Given the description of an element on the screen output the (x, y) to click on. 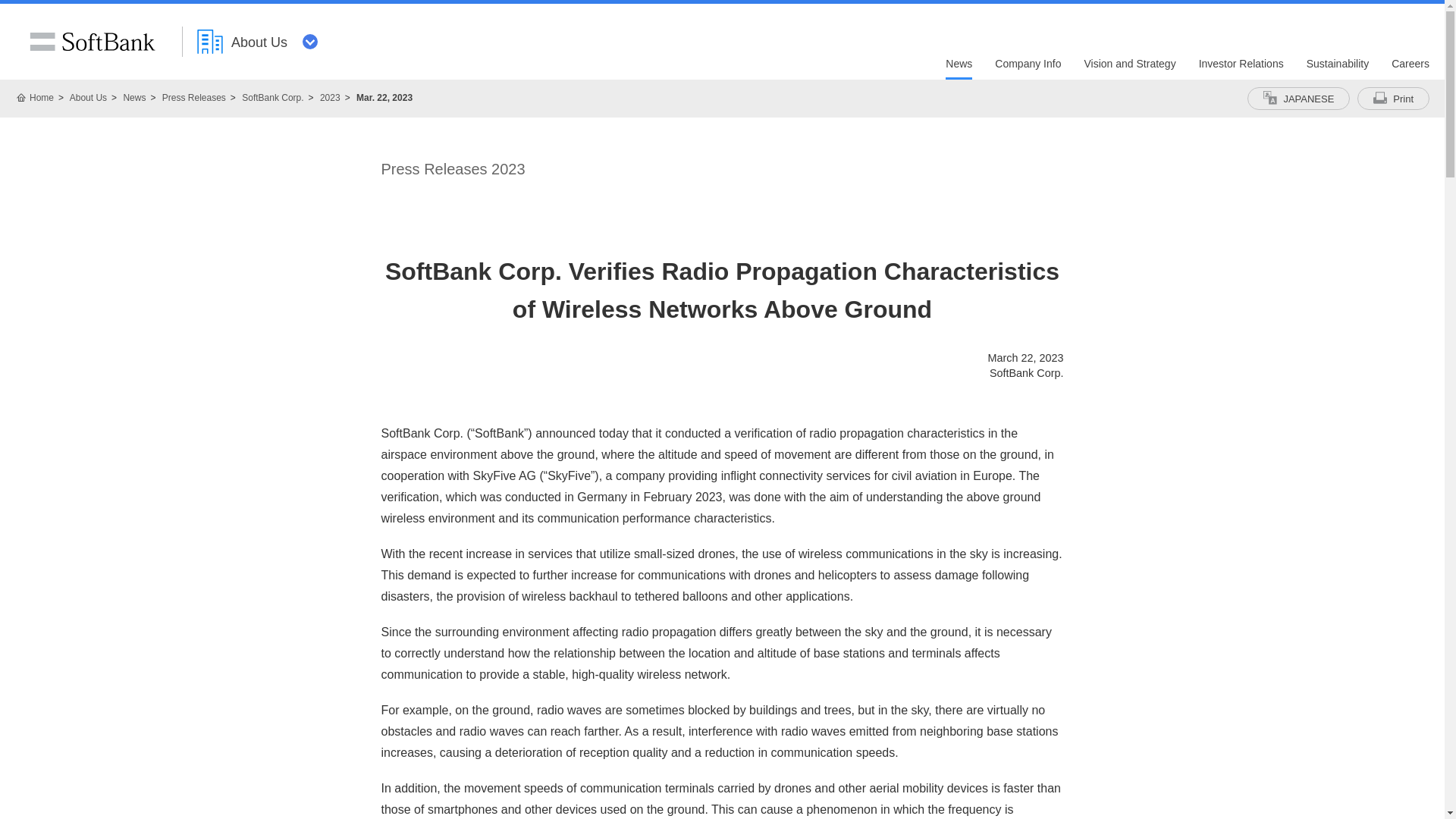
Careers (1410, 68)
About Us (257, 41)
Vision and Strategy (1128, 68)
Company Info (1027, 68)
Sustainability (1337, 68)
News (959, 68)
SoftBank (91, 41)
Investor Relations (1241, 68)
